Given the description of an element on the screen output the (x, y) to click on. 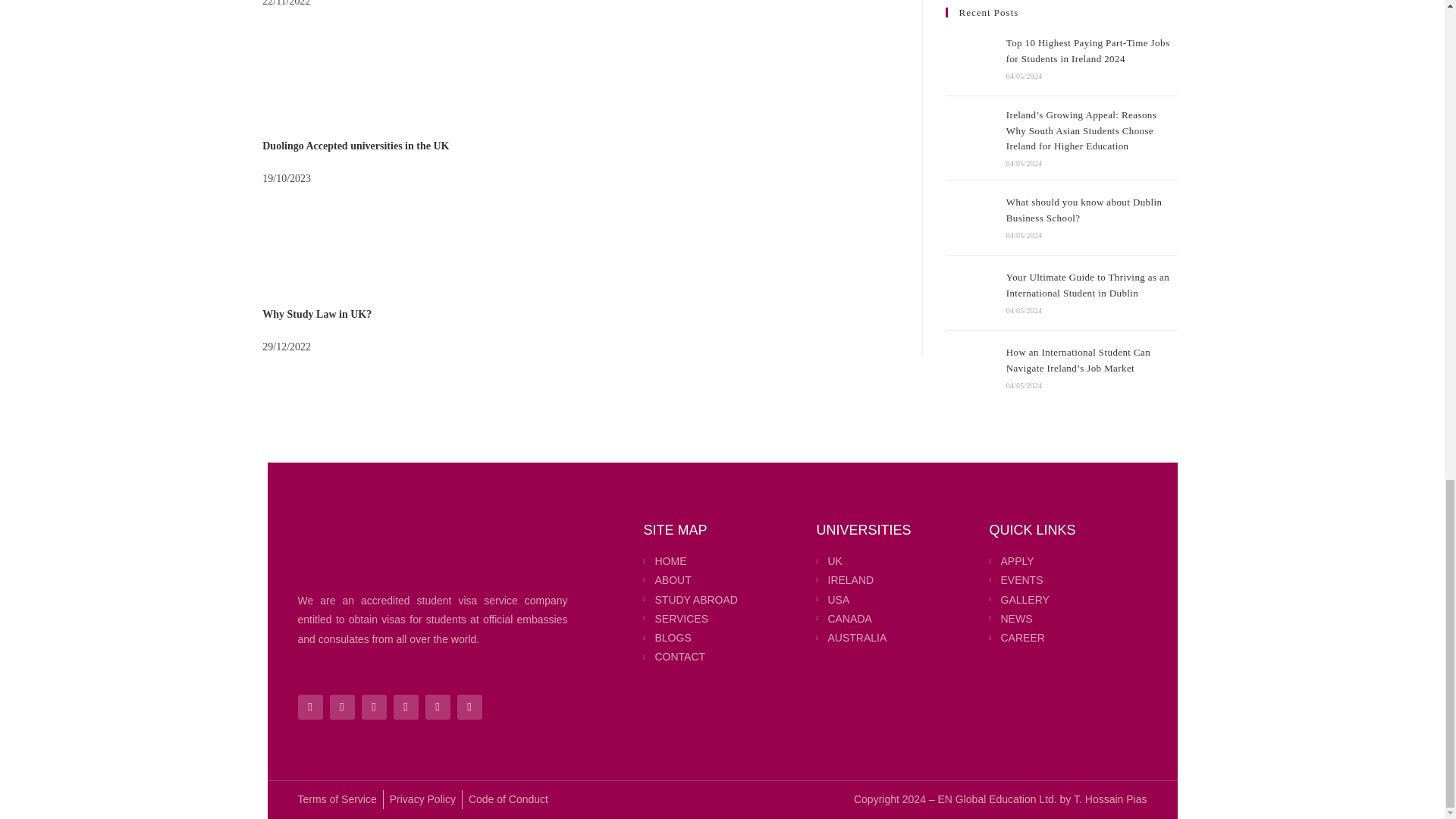
Why Study Law in UK? (316, 314)
Duolingo Accepted universities in the UK (355, 145)
What should you know about Dublin Business School? (969, 217)
